Given the description of an element on the screen output the (x, y) to click on. 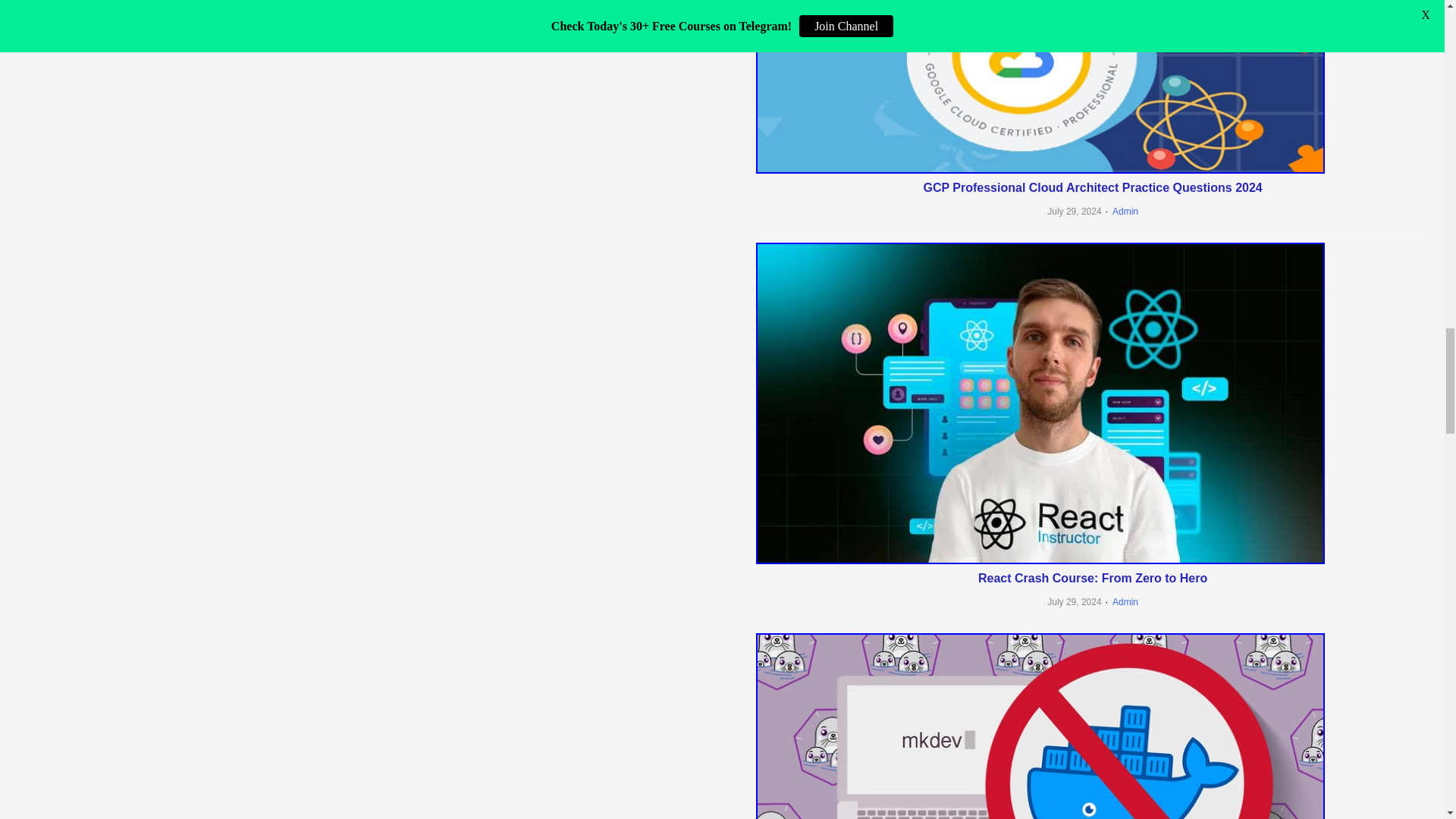
Admin (1120, 211)
GCP Professional Cloud Architect Practice Questions 2024 (1092, 187)
